Given the description of an element on the screen output the (x, y) to click on. 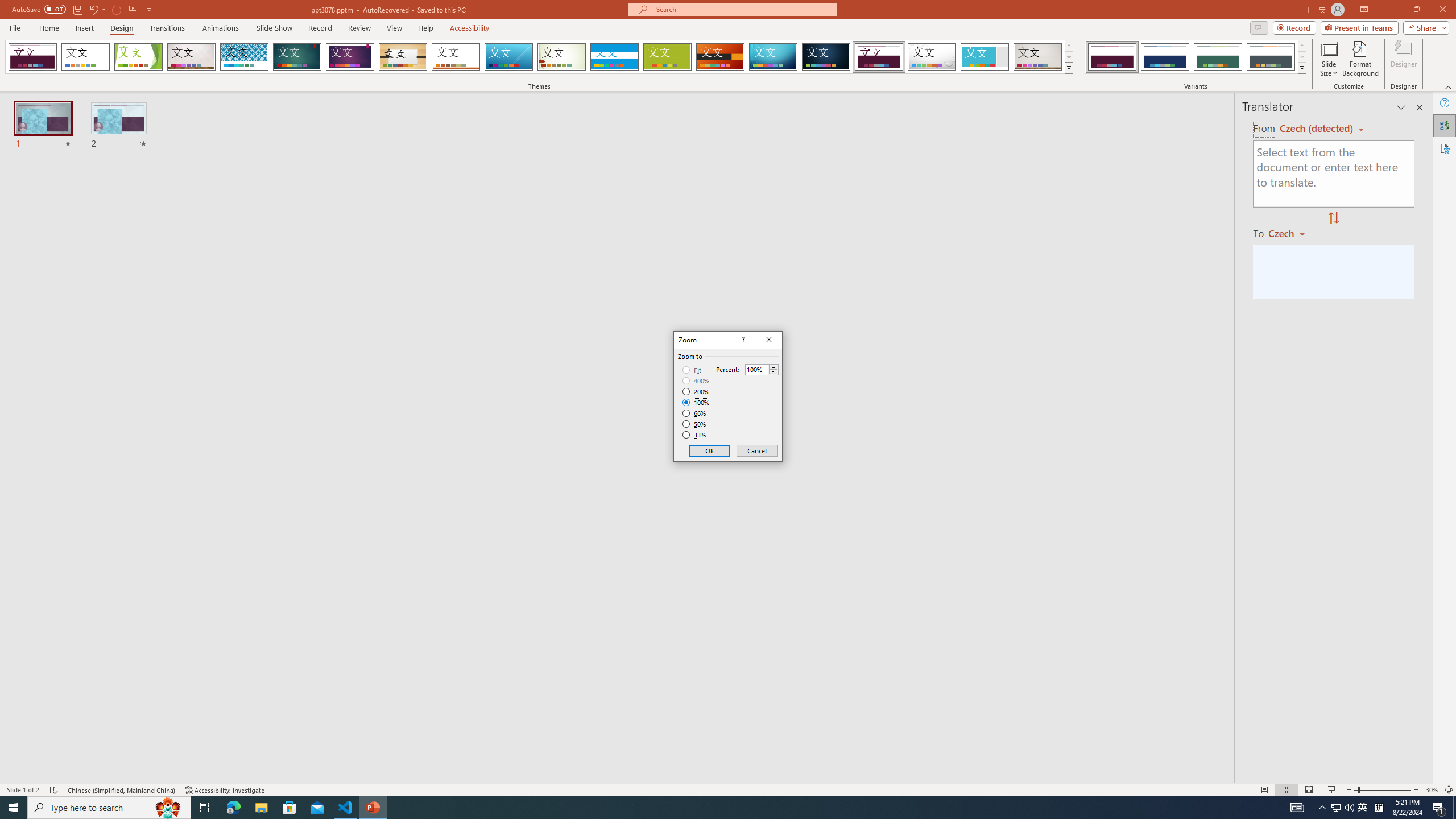
Dividend (879, 56)
Action Center, 1 new notification (1439, 807)
66% (694, 412)
Animations (220, 28)
Zoom Out (1355, 790)
Circuit (772, 56)
Integral (244, 56)
Tray Input Indicator - Chinese (Simplified, China) (1378, 807)
Variants (1301, 67)
From Beginning (133, 9)
Percent (761, 369)
Comments (1259, 27)
Dividend Variant 3 (1217, 56)
User Promoted Notification Area (1342, 807)
